Given the description of an element on the screen output the (x, y) to click on. 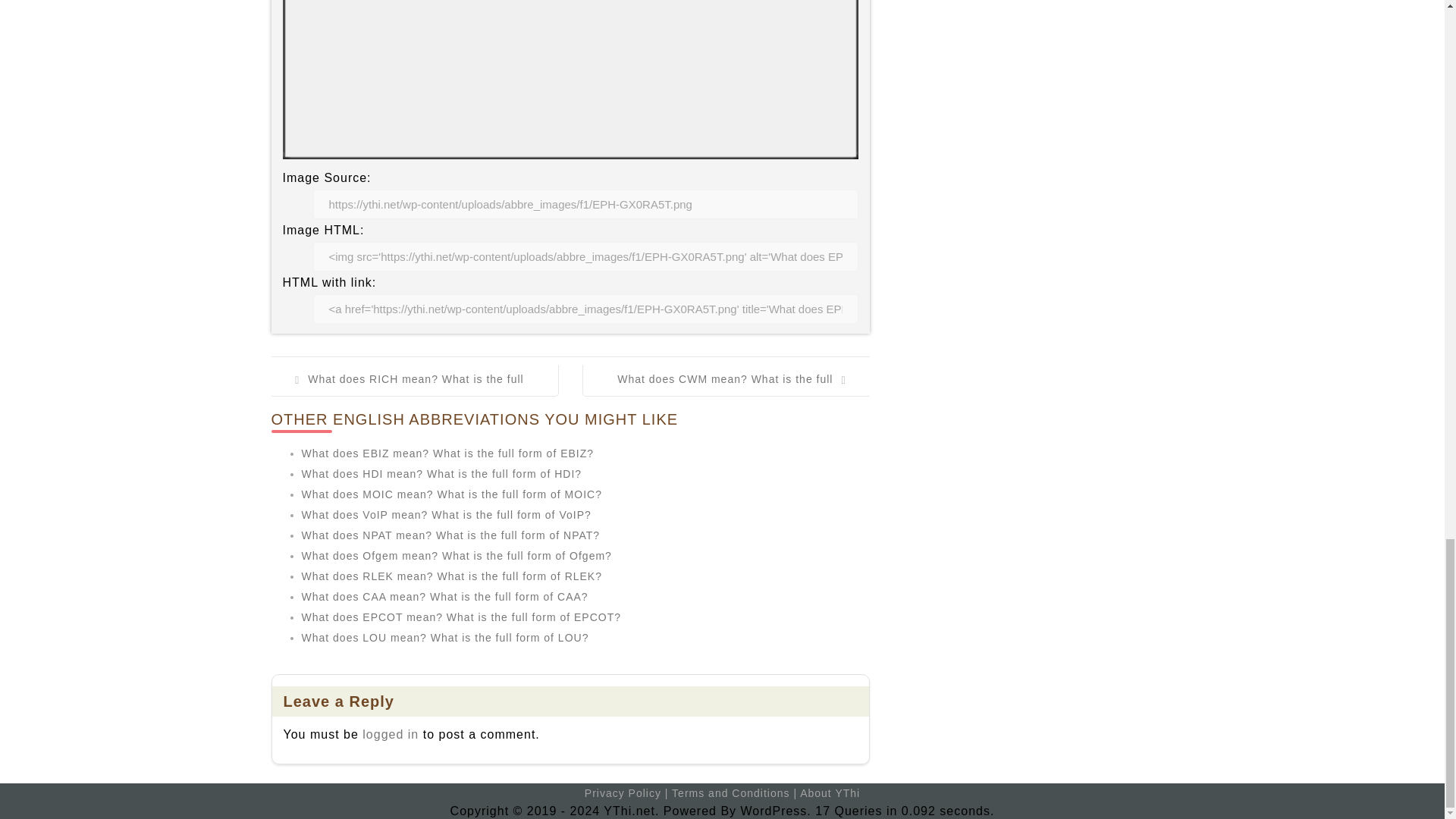
logged in (390, 734)
What does RICH mean? What is the full form of RICH? (413, 389)
What does CAA mean? What is the full form of CAA? (444, 596)
What does HDI mean? What is the full form of HDI? (441, 473)
What does VoIP mean? What is the full form of VoIP? (446, 514)
What does LOU mean? What is the full form of LOU? (445, 637)
What does MOIC mean? What is the full form of MOIC? (451, 494)
What does EPH mean? What is the full form of EPH? (570, 79)
What does VoIP mean? What is the full form of VoIP? (446, 514)
What does RLEK mean? What is the full form of RLEK? (451, 576)
